Given the description of an element on the screen output the (x, y) to click on. 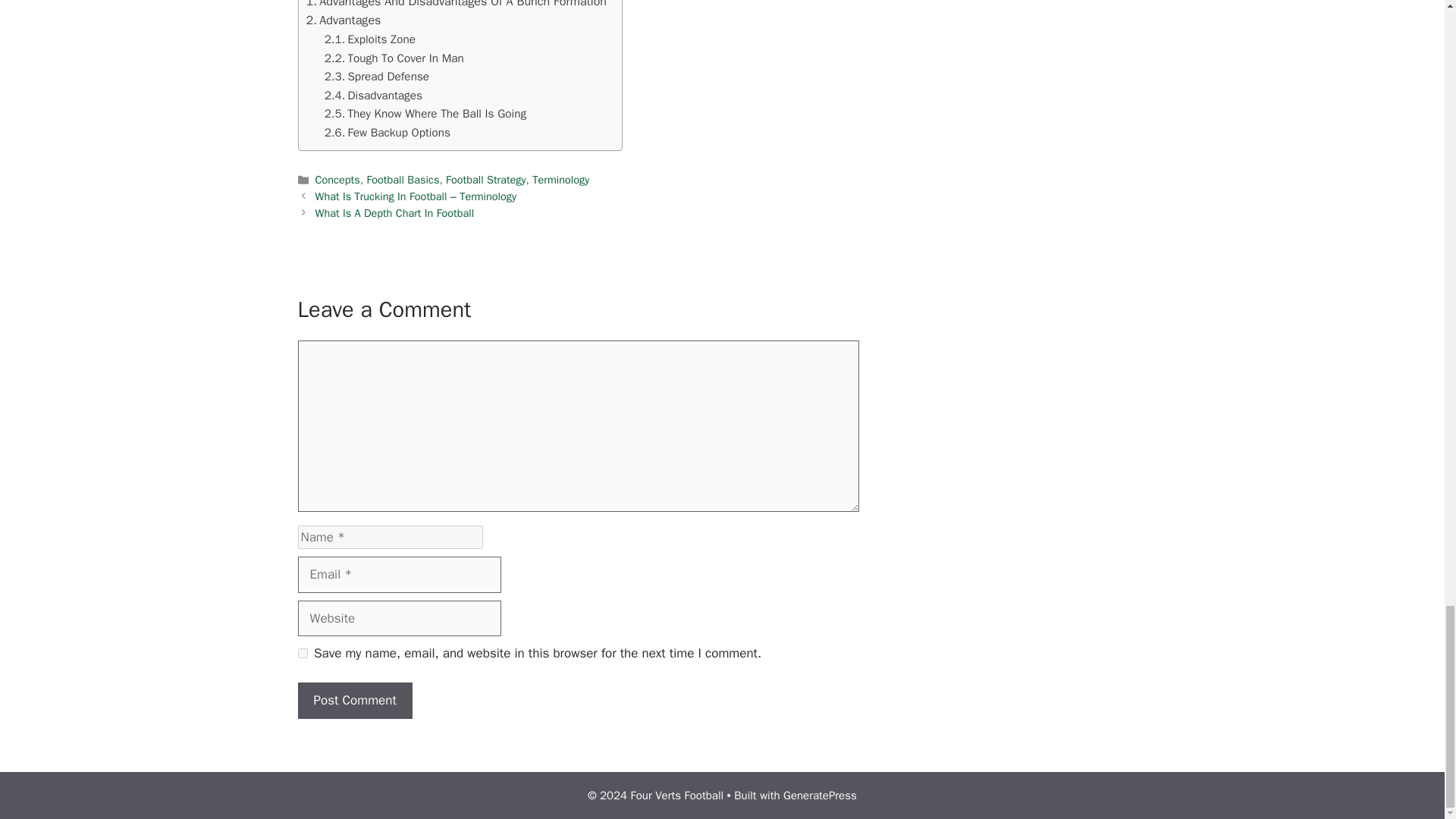
yes (302, 653)
Exploits Zone (369, 39)
Post Comment (354, 700)
Terminology (560, 179)
Football Strategy (485, 179)
Advantages (343, 20)
Tough To Cover In Man (394, 58)
Advantages And Disadvantages Of A Bunch Formation (456, 5)
Advantages And Disadvantages Of A Bunch Formation (456, 5)
Spread Defense (376, 76)
